Given the description of an element on the screen output the (x, y) to click on. 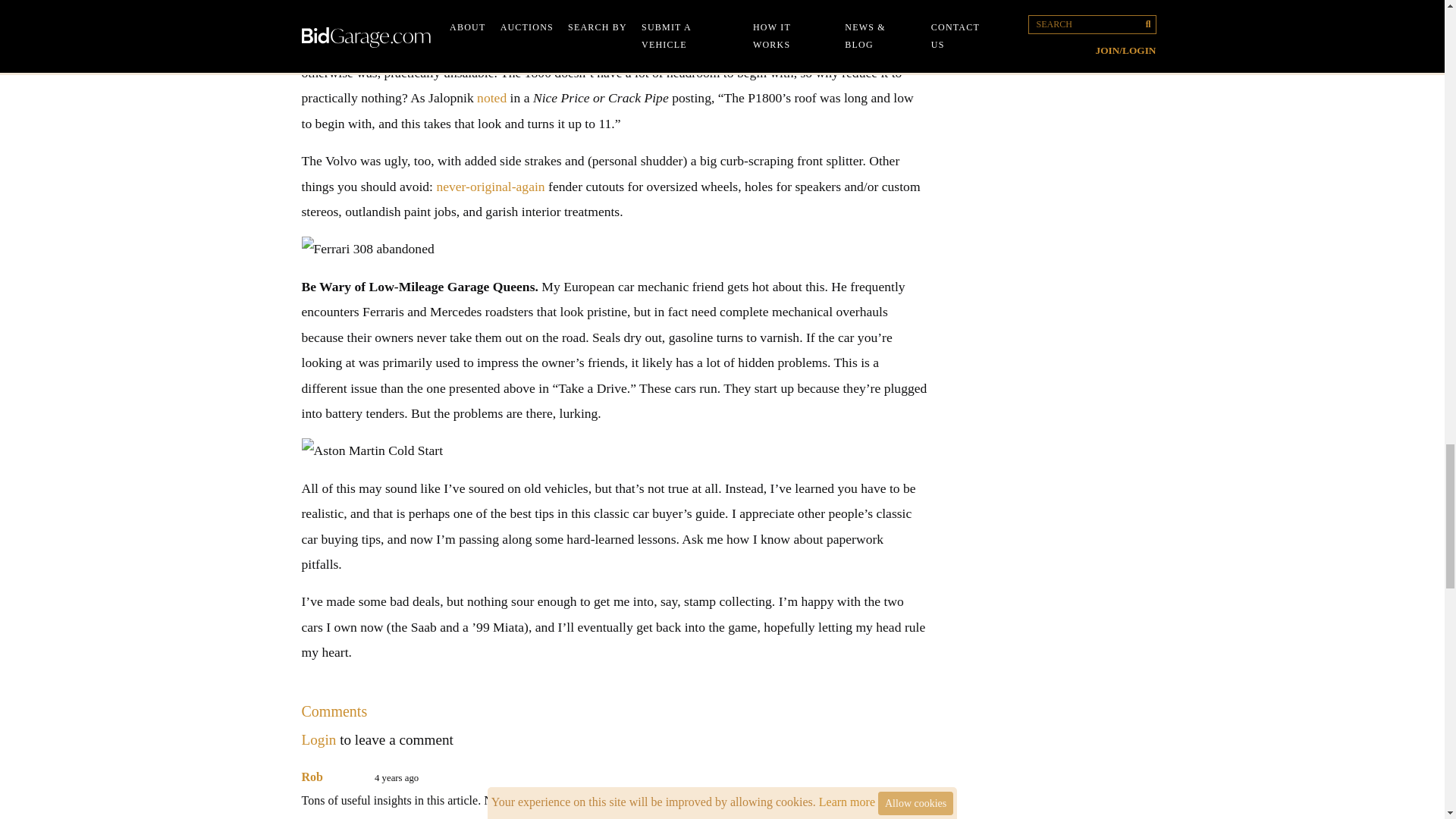
never-original-again (489, 186)
noted (491, 97)
Rob (312, 776)
Login (318, 739)
Ferrari 308 abandoned (614, 248)
Aston Martin Cold Start (614, 450)
